Given the description of an element on the screen output the (x, y) to click on. 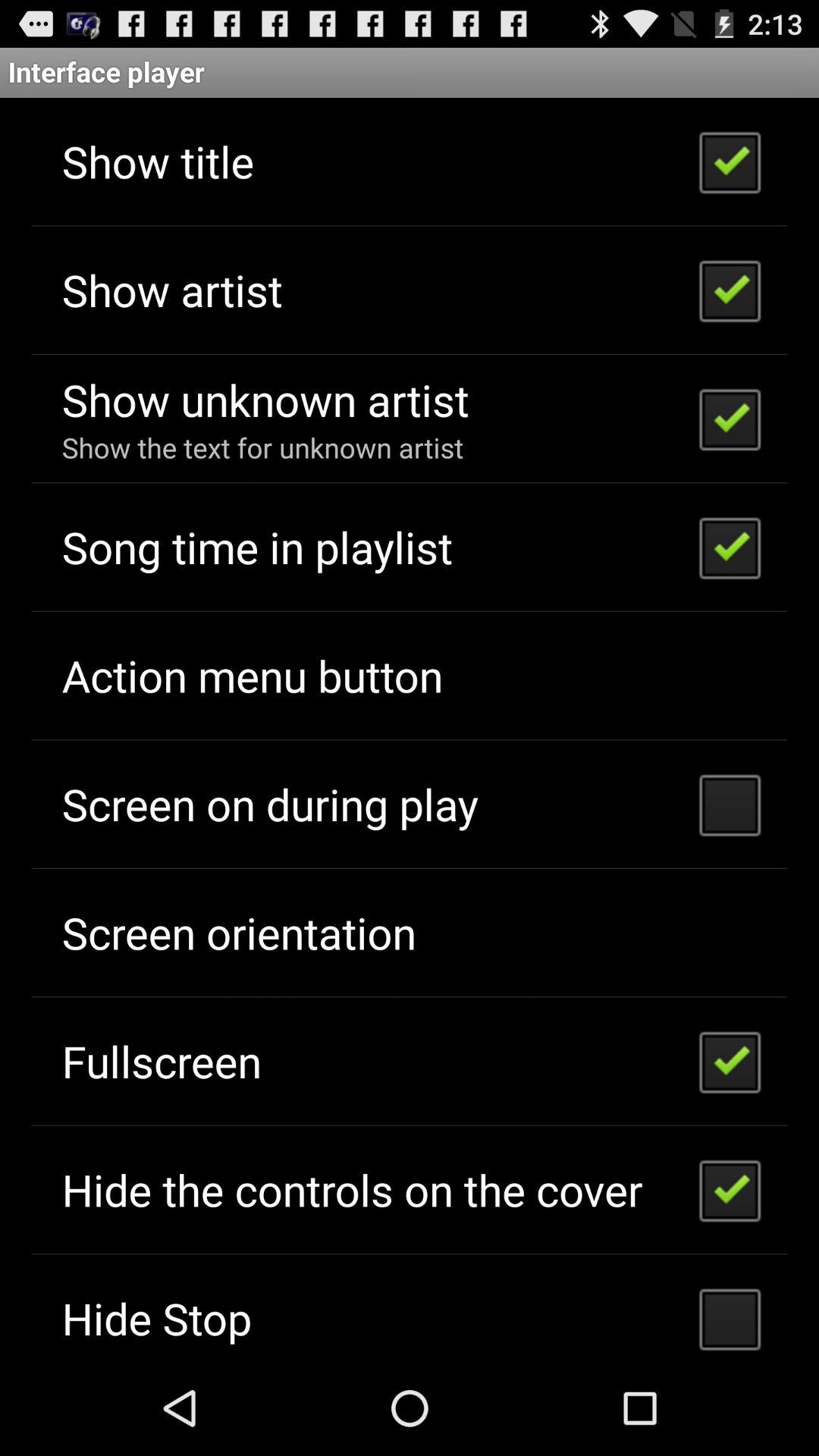
tap icon below the show unknown artist app (262, 447)
